Given the description of an element on the screen output the (x, y) to click on. 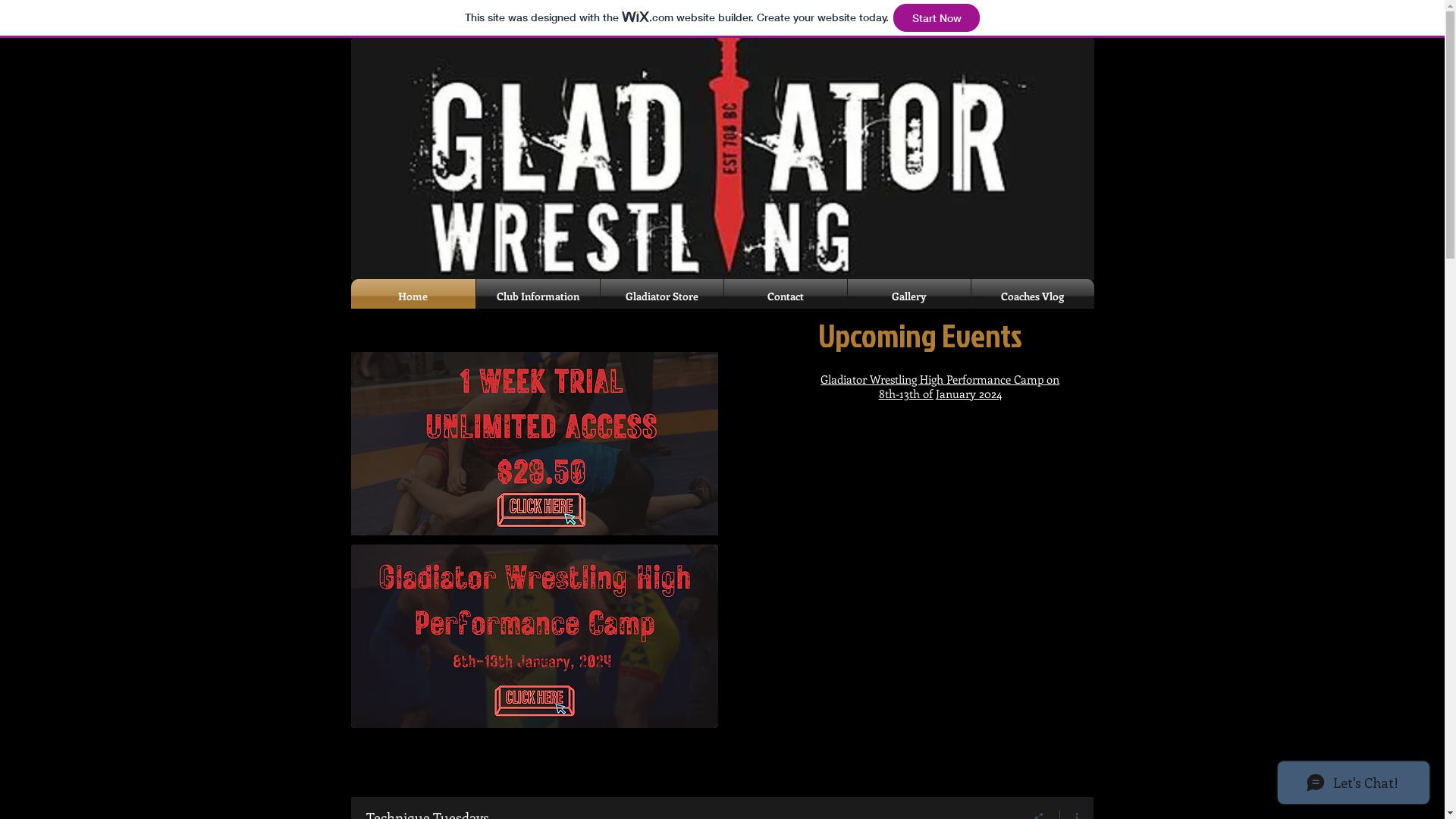
Coaches Vlog Element type: text (1031, 296)
1624f9_5c08085f15214a5db4f0129b885b6c83~mv2.png Element type: hover (533, 636)
Gallery Element type: text (908, 296)
Gladiator Store Element type: text (661, 296)
1 WEEK TRIAL 2.png Element type: hover (533, 443)
Contact Element type: text (784, 296)
Home Element type: text (412, 296)
Club Information Element type: text (537, 296)
